Given the description of an element on the screen output the (x, y) to click on. 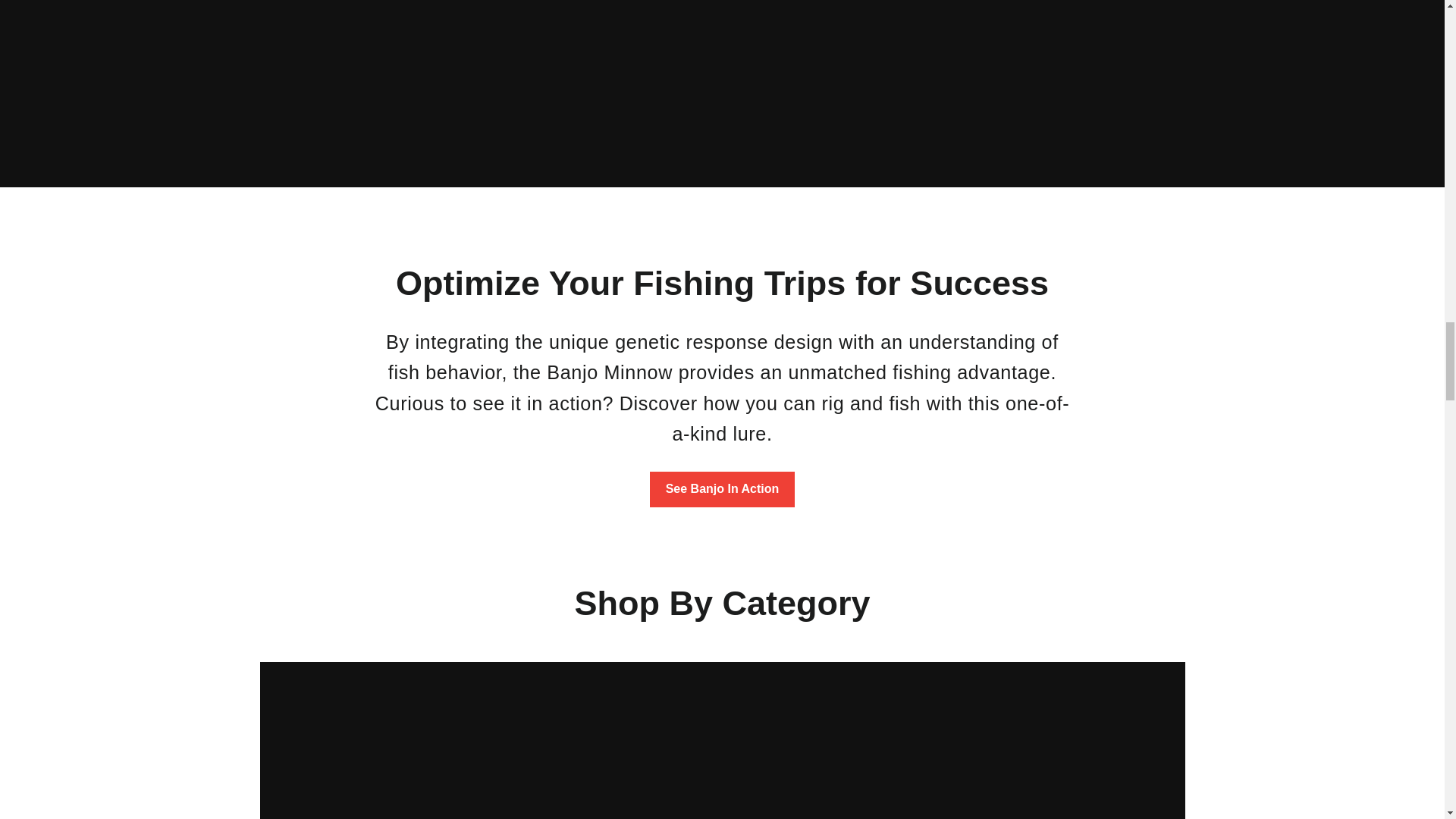
Kits (490, 740)
See Banjo In Action (721, 488)
Minnows (953, 740)
